Given the description of an element on the screen output the (x, y) to click on. 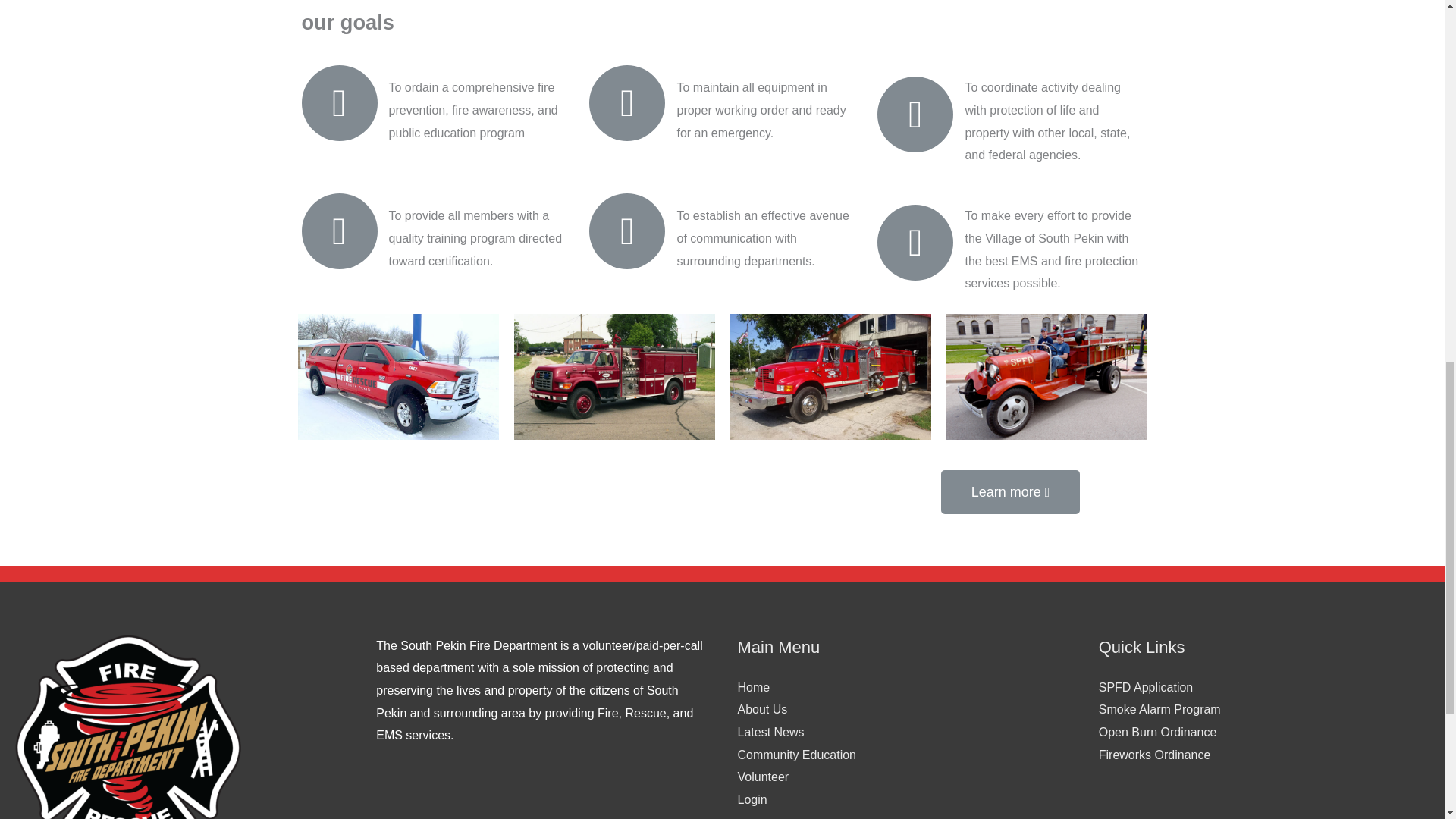
Community Education (796, 754)
Open Burn Ordinance (1158, 731)
Login (751, 799)
Latest News (769, 731)
Volunteer (762, 776)
Fireworks Ordinance (1155, 754)
SPFD Application (1146, 686)
Home (753, 686)
Smoke Alarm Program (1160, 708)
About Us (761, 708)
Learn more (1010, 492)
